Given the description of an element on the screen output the (x, y) to click on. 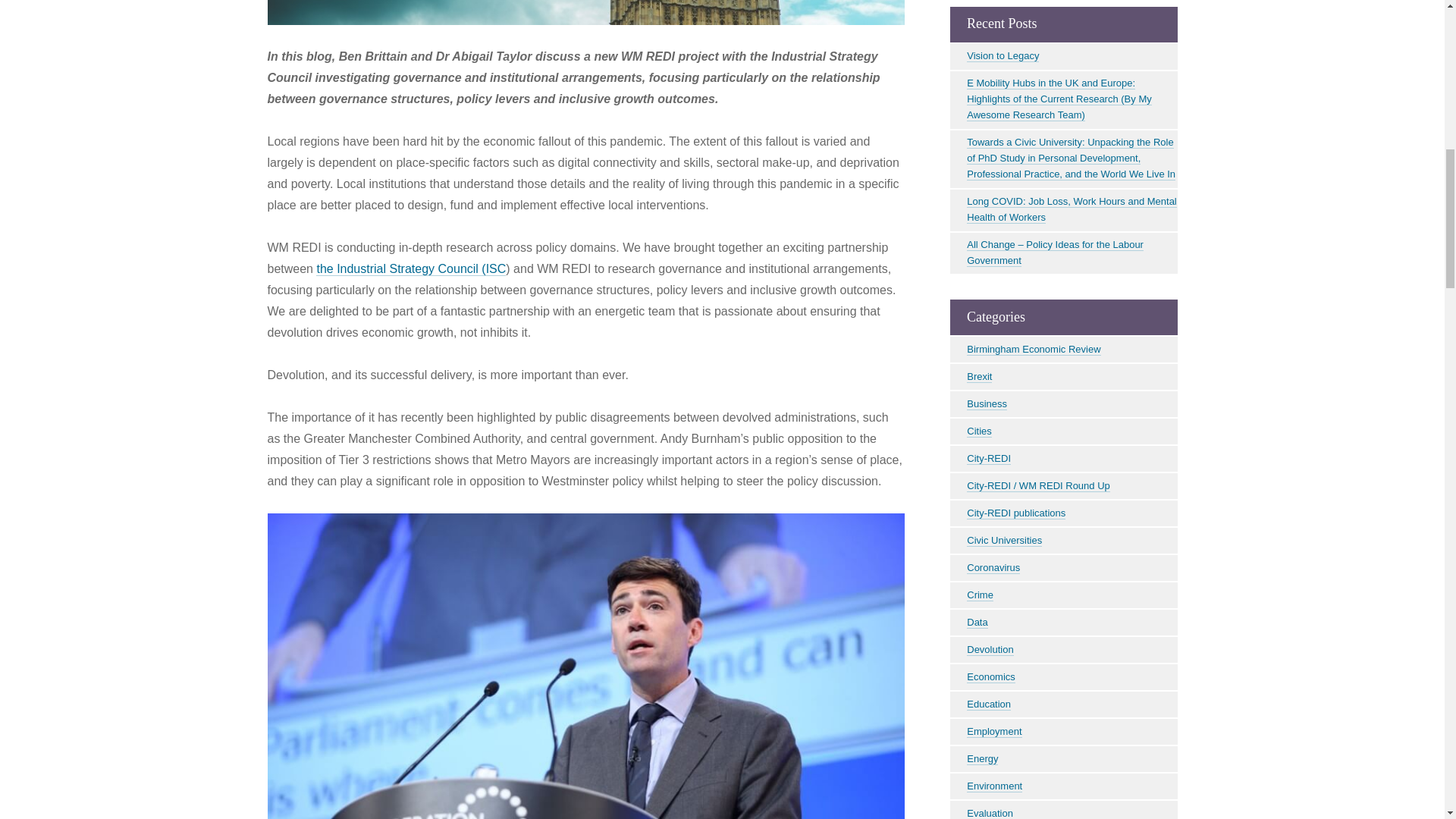
Photo by Simon Rae on Unsplash (585, 12)
